Given the description of an element on the screen output the (x, y) to click on. 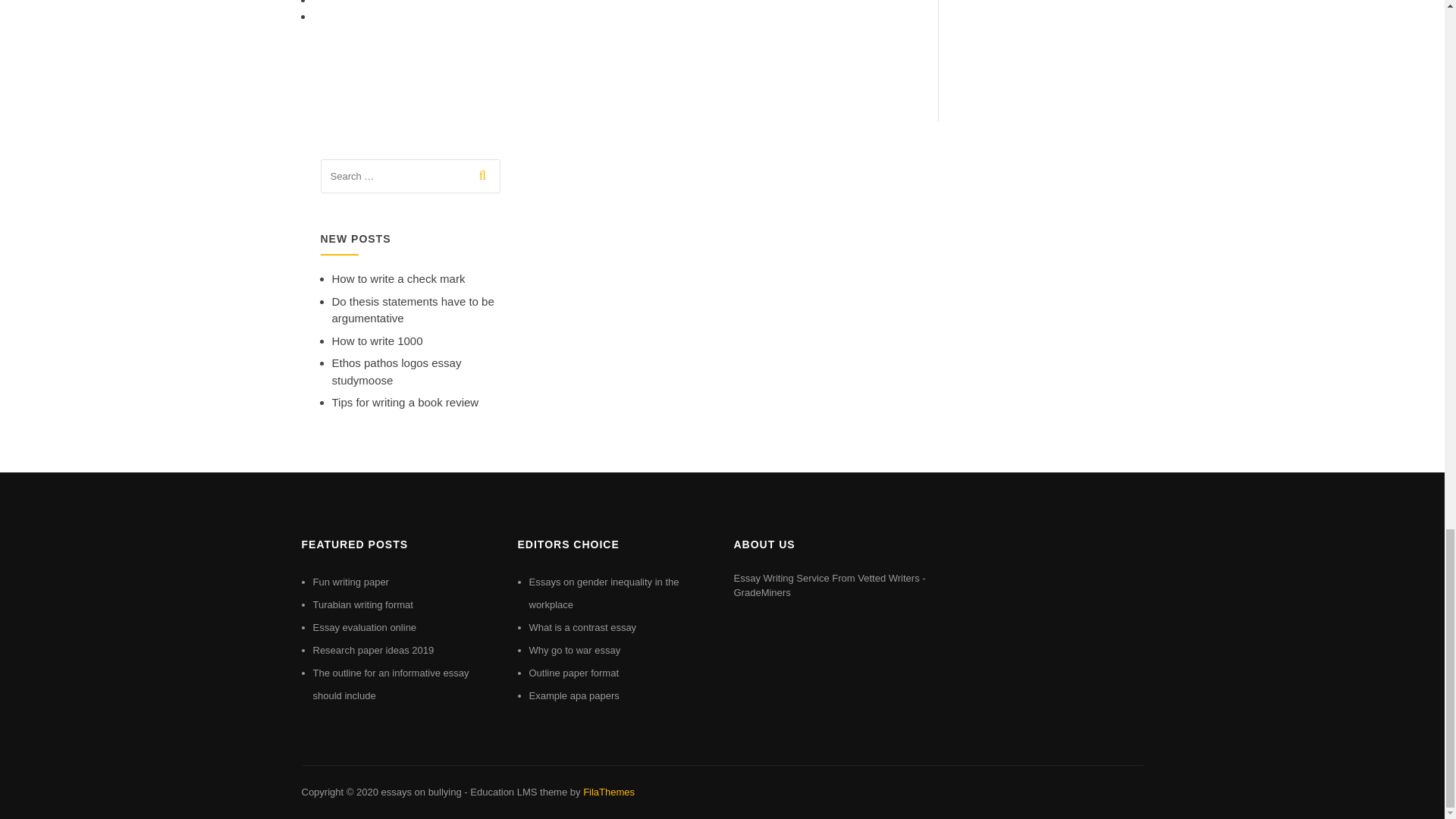
How to write a check mark (398, 278)
How to write 1000 (377, 340)
Essays on gender inequality in the workplace (604, 593)
Outline paper format (574, 672)
The outline for an informative essay should include (390, 684)
essays on bullying (420, 791)
Turabian writing format (362, 604)
Do thesis statements have to be argumentative (413, 309)
What is a contrast essay (583, 627)
Essay evaluation online (364, 627)
